Given the description of an element on the screen output the (x, y) to click on. 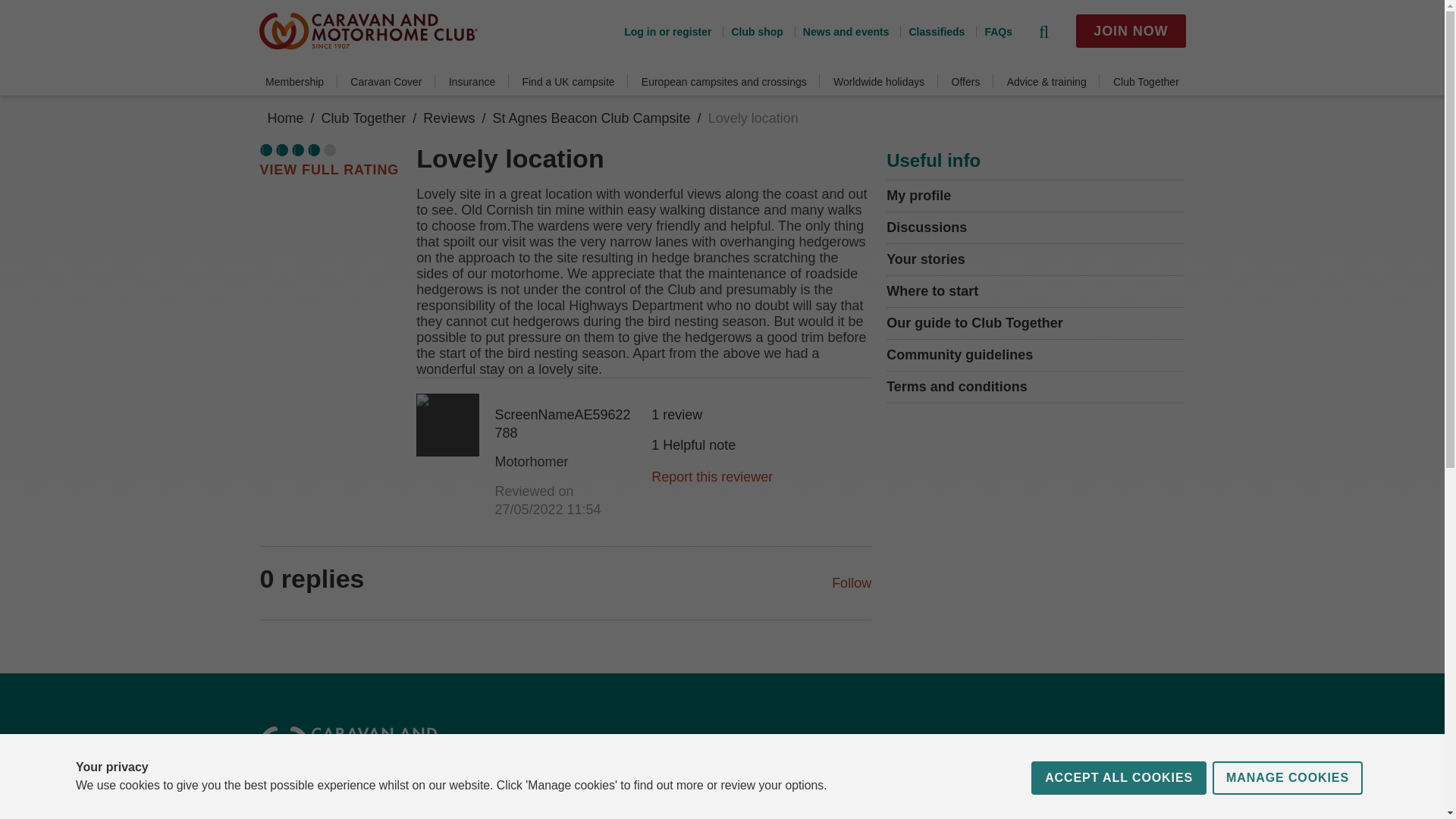
View ScreenNameAE59622788 profile (565, 423)
Club shop (752, 31)
JOIN NOW (1130, 30)
Log in or register (667, 31)
MANAGE COOKIES (1287, 815)
View ScreenNameAE59622788's profile (565, 462)
Classifieds (931, 31)
Membership (293, 81)
View ScreenNameAE59622788 profile (447, 424)
Log in or register (667, 31)
